Given the description of an element on the screen output the (x, y) to click on. 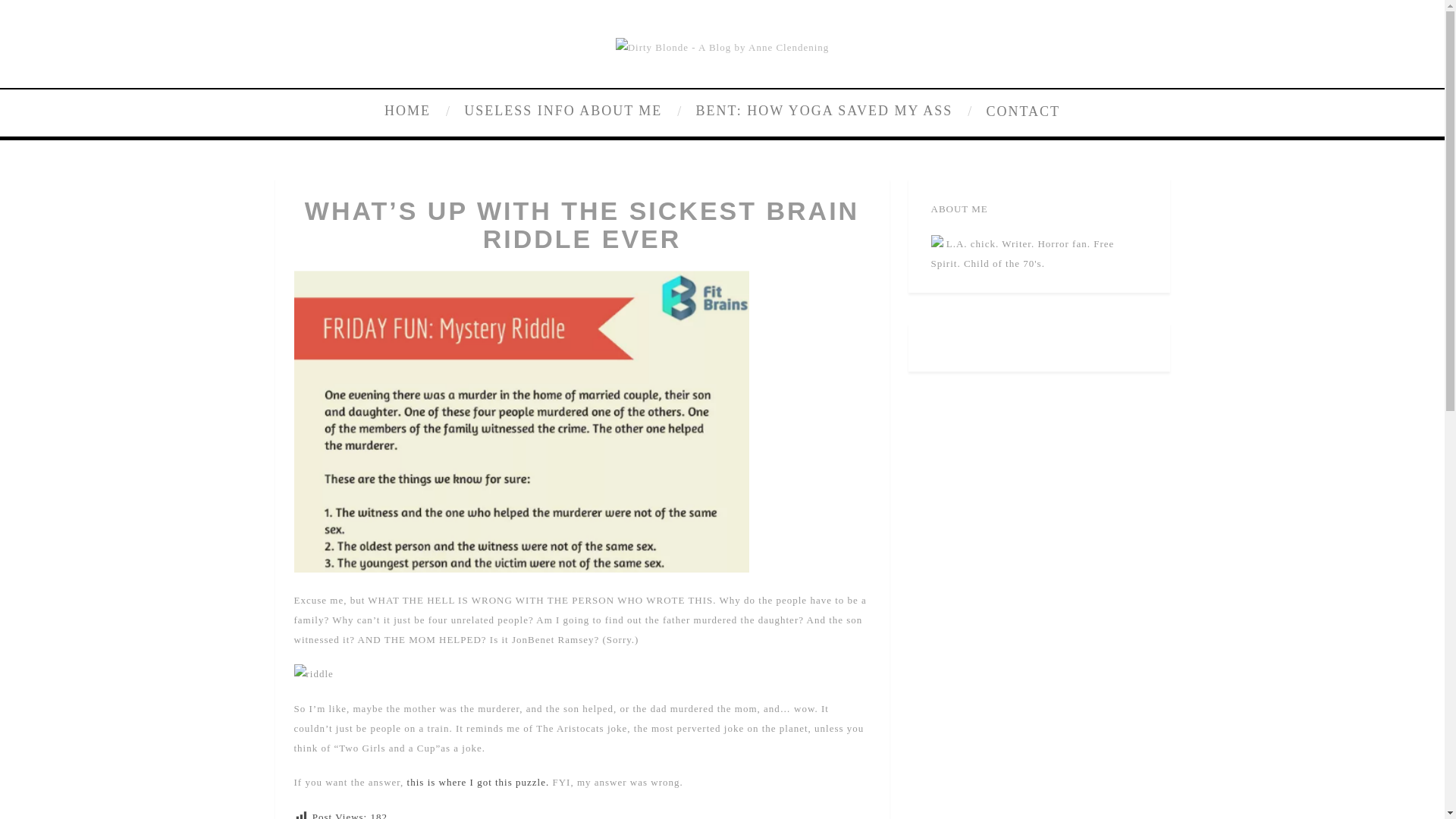
this is where I got this puzzle. (478, 781)
HOME (418, 110)
BENT: HOW YOGA SAVED MY ASS (831, 110)
USELESS INFO ABOUT ME (570, 110)
CONTACT (1019, 110)
